Given the description of an element on the screen output the (x, y) to click on. 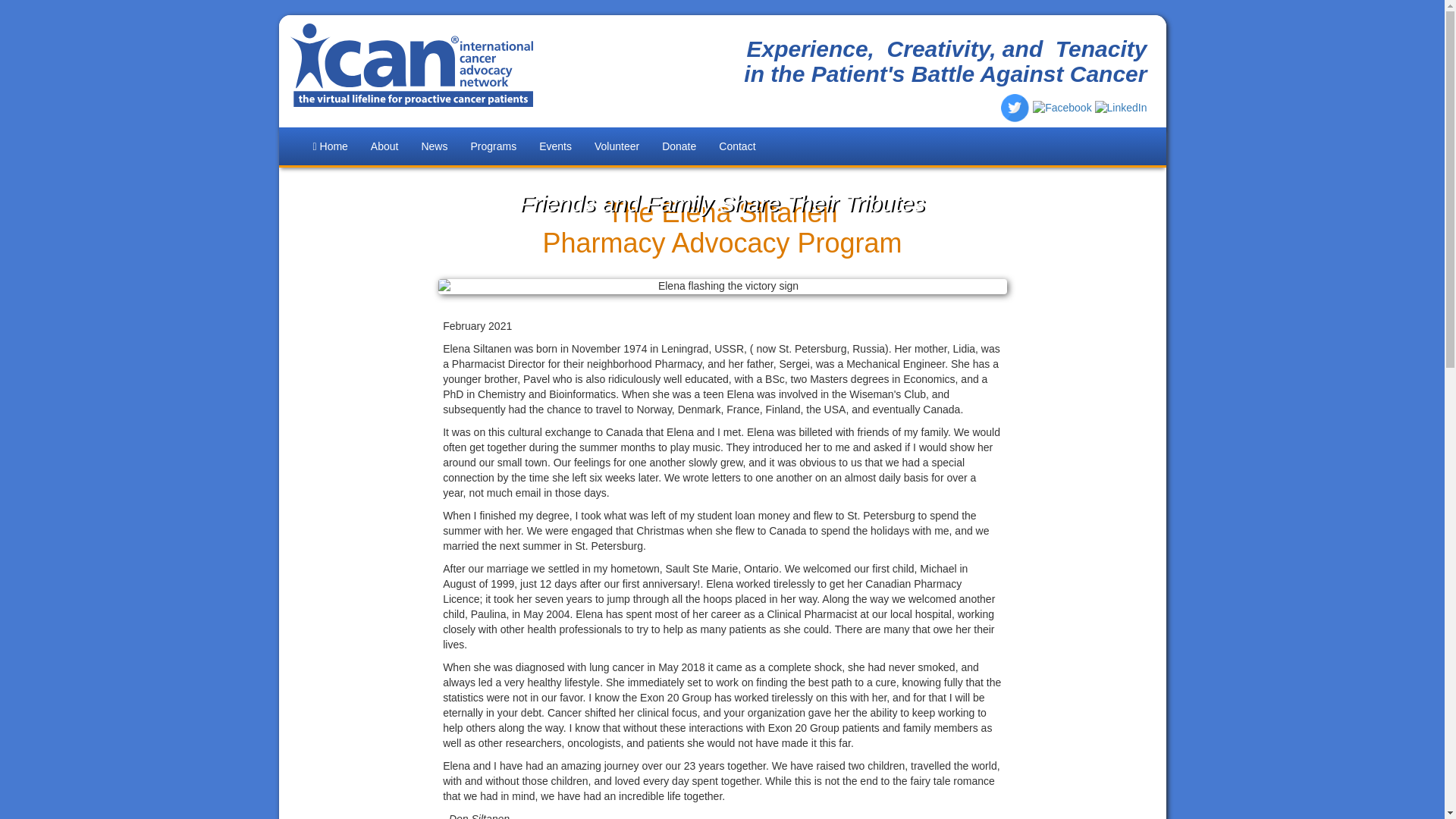
News (433, 146)
Home (330, 146)
About (384, 146)
Programs (492, 146)
Donate (678, 146)
Volunteer (616, 146)
Events (555, 146)
Contact (737, 146)
